Given the description of an element on the screen output the (x, y) to click on. 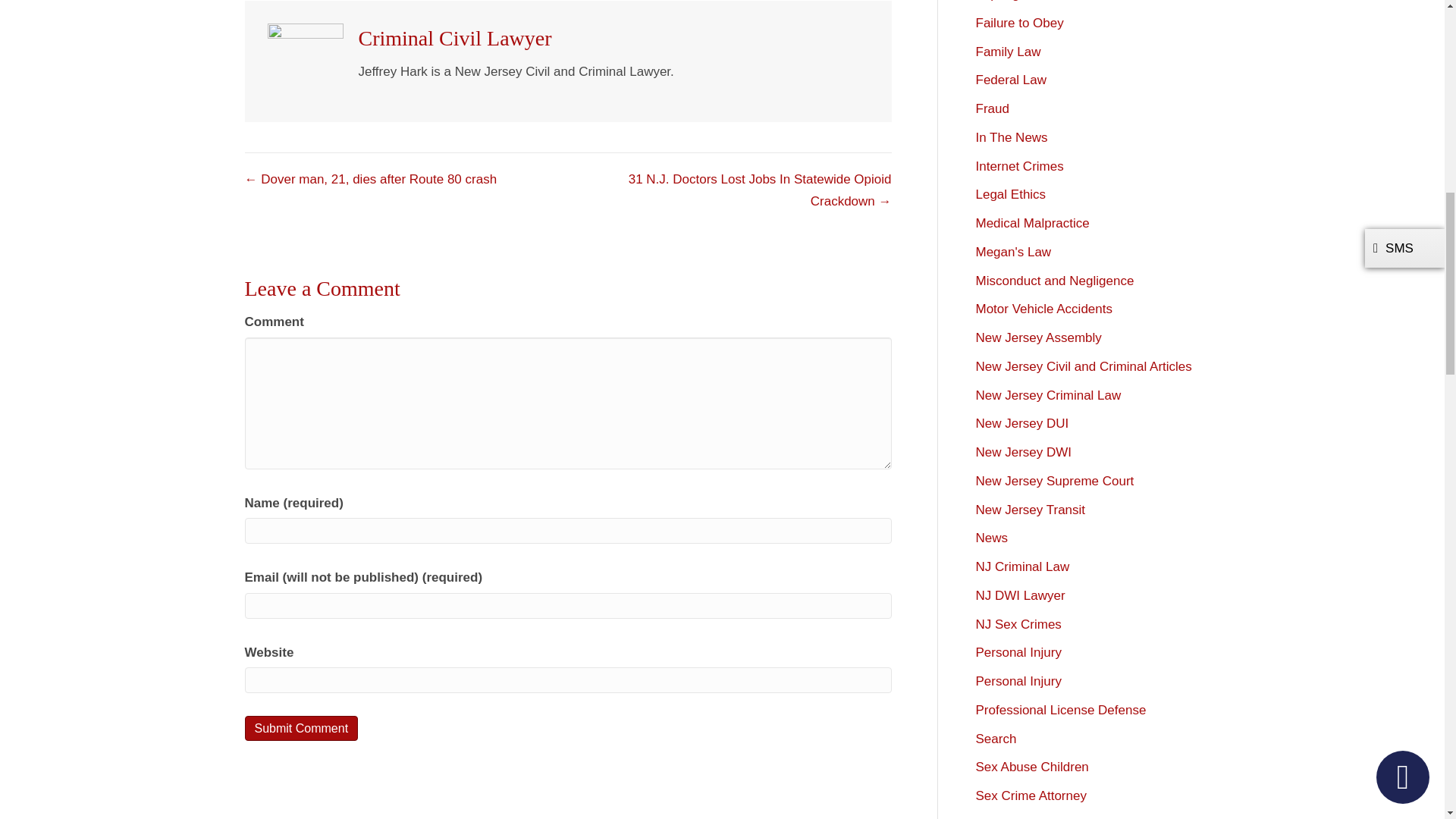
Submit Comment (301, 728)
